Given the description of an element on the screen output the (x, y) to click on. 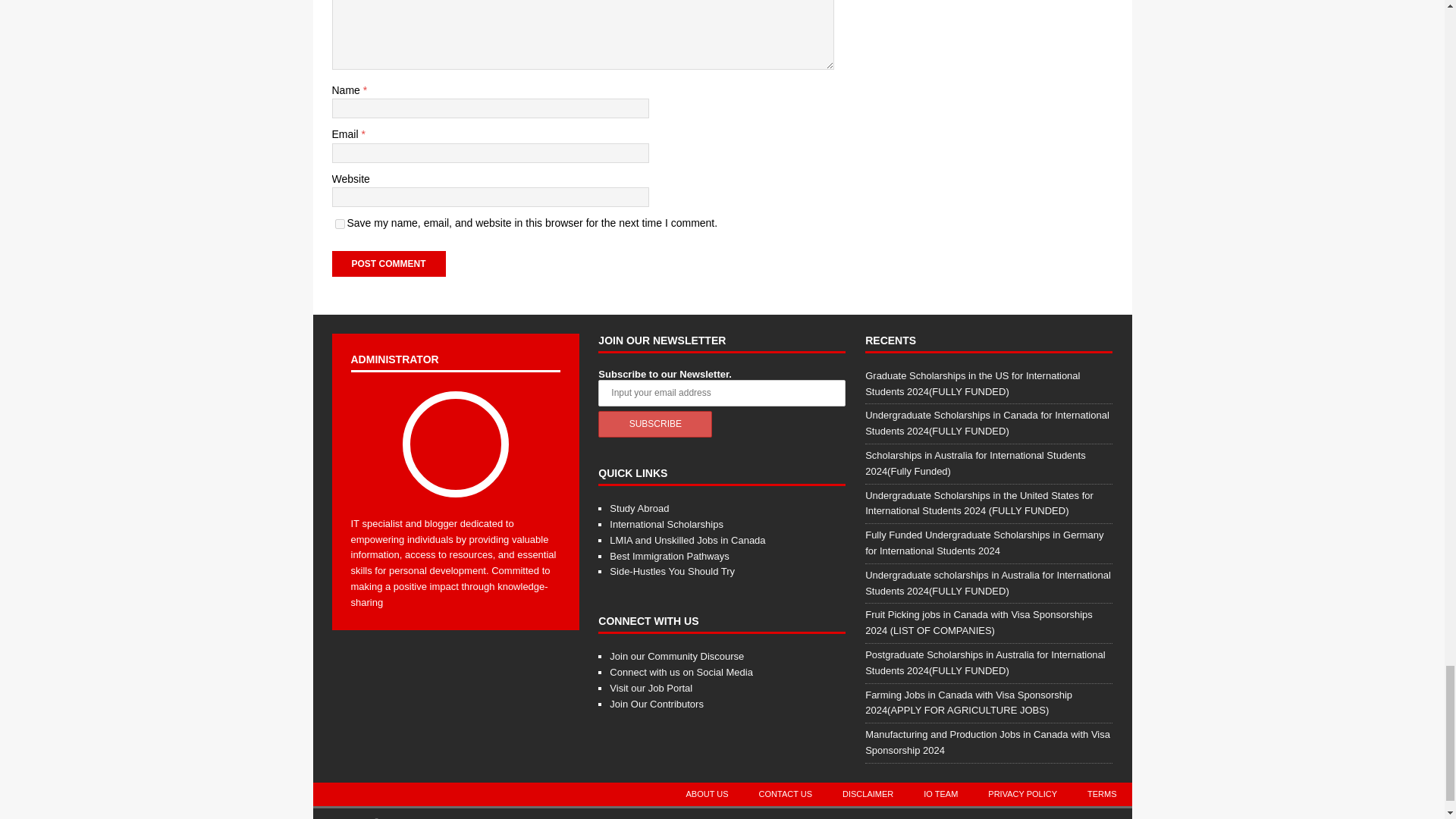
Subscribe (654, 424)
Post Comment (388, 263)
yes (339, 224)
